Given the description of an element on the screen output the (x, y) to click on. 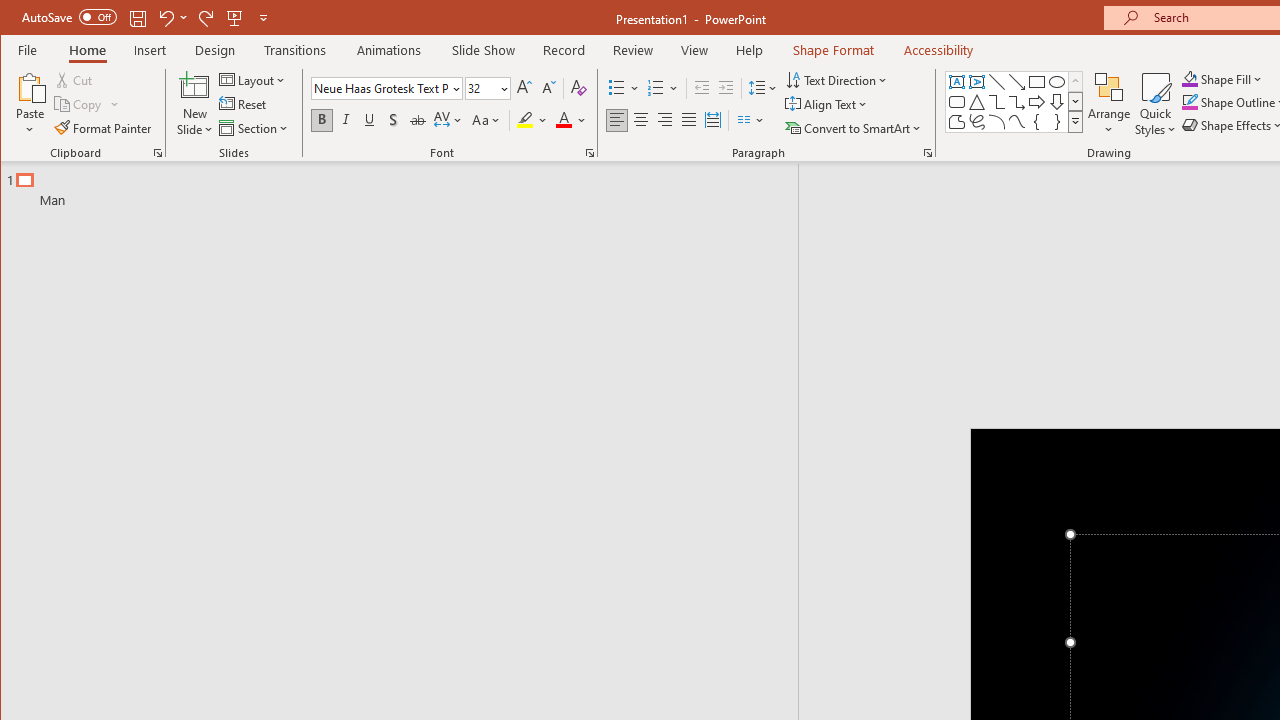
Text Direction (837, 80)
Change Case (486, 119)
Font... (589, 152)
Right Brace (1057, 121)
Line (996, 82)
Shadow (393, 119)
Arrow: Right (1036, 102)
Freeform: Scribble (976, 121)
